Given the description of an element on the screen output the (x, y) to click on. 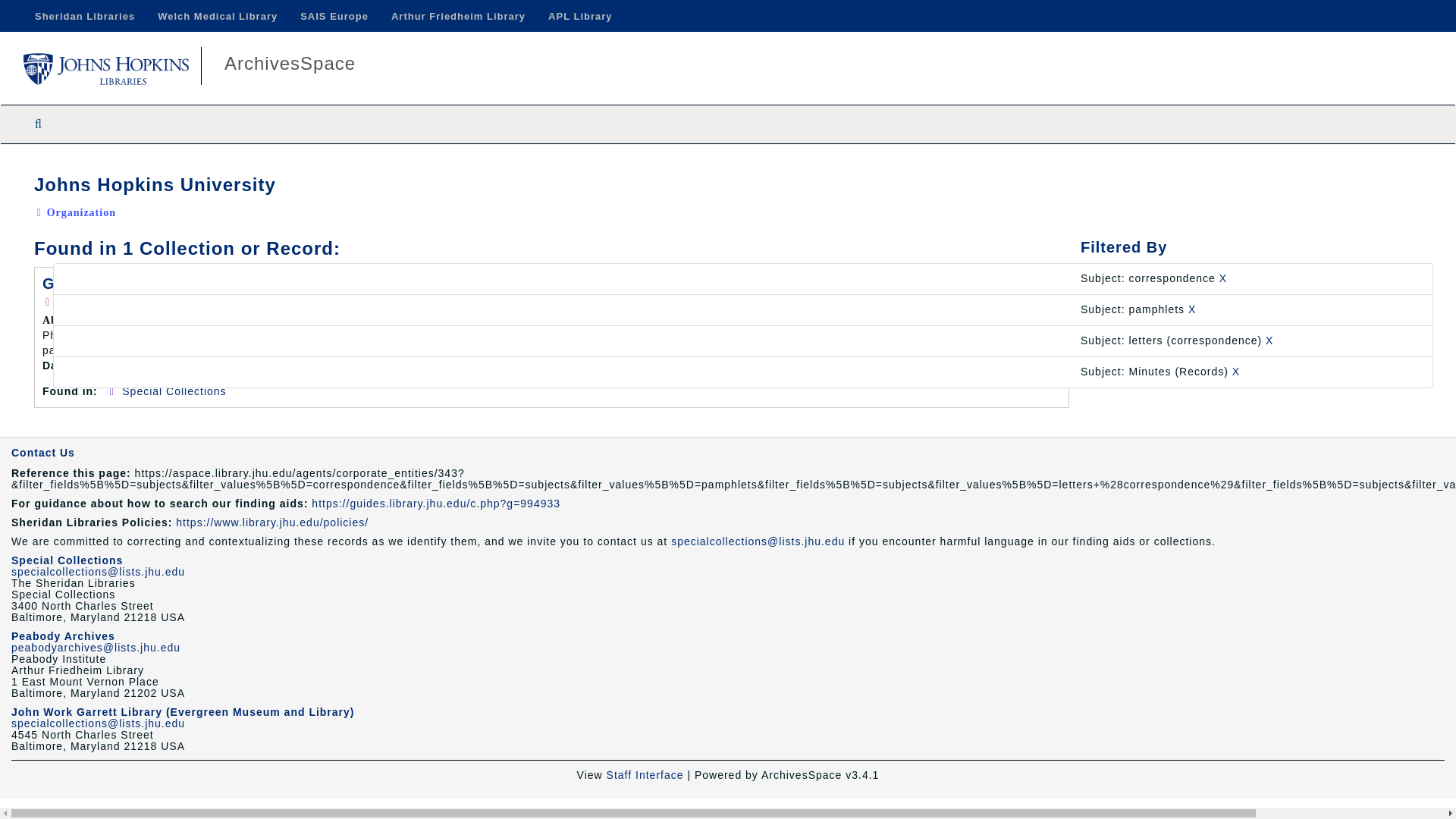
Special Collections (173, 390)
SAIS Europe (334, 15)
Page Actions (1139, 167)
Special Collections (66, 560)
Staff Interface (645, 775)
Arthur Friedheim Library (458, 15)
Welch Medical Library (217, 15)
Gilbert V. Levin papers (133, 283)
APL Library (580, 15)
Sheridan Libraries (85, 15)
Peabody Archives (63, 635)
